Given the description of an element on the screen output the (x, y) to click on. 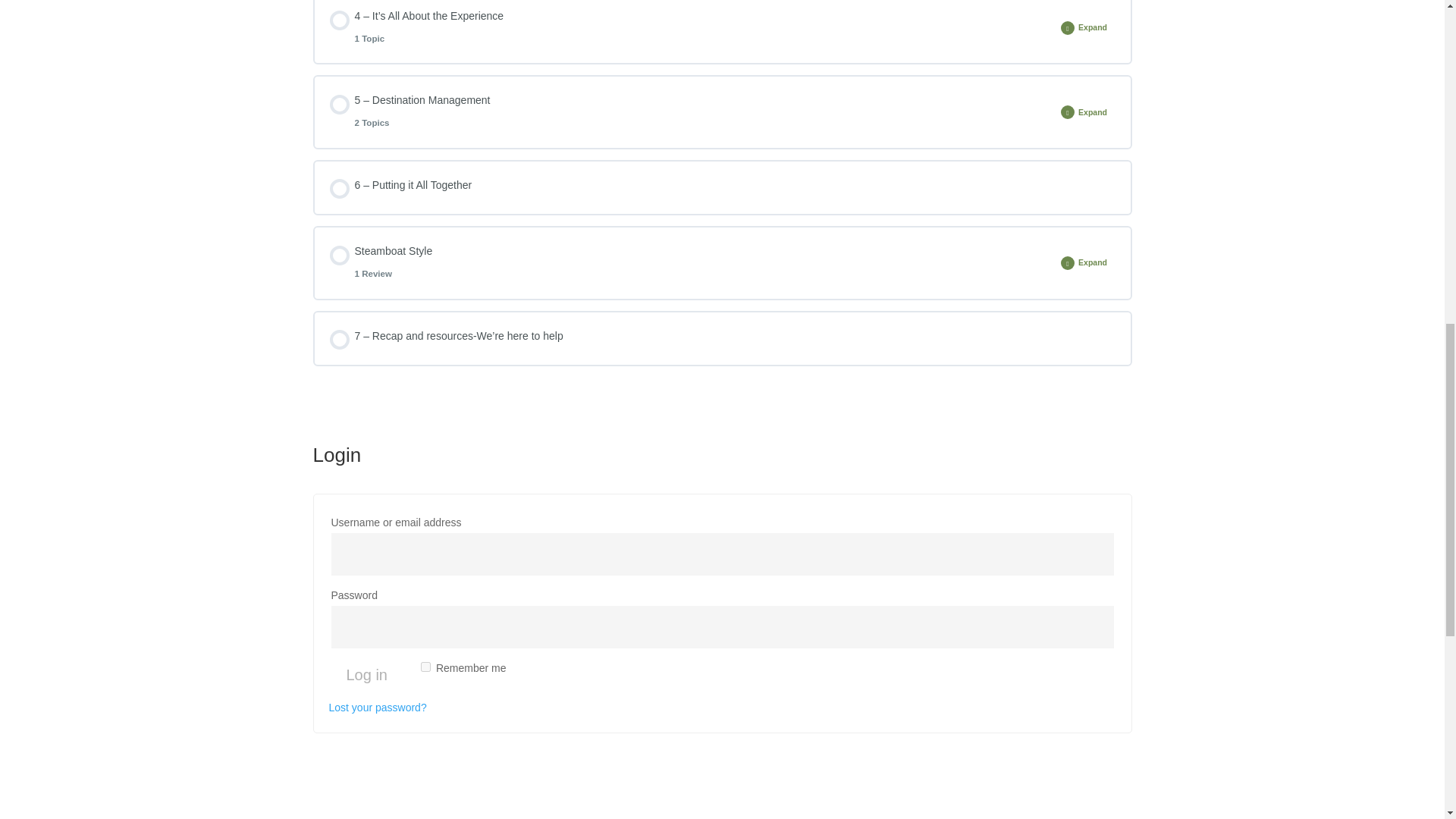
forever (425, 666)
Lost your password? (377, 707)
Log in (690, 262)
